Given the description of an element on the screen output the (x, y) to click on. 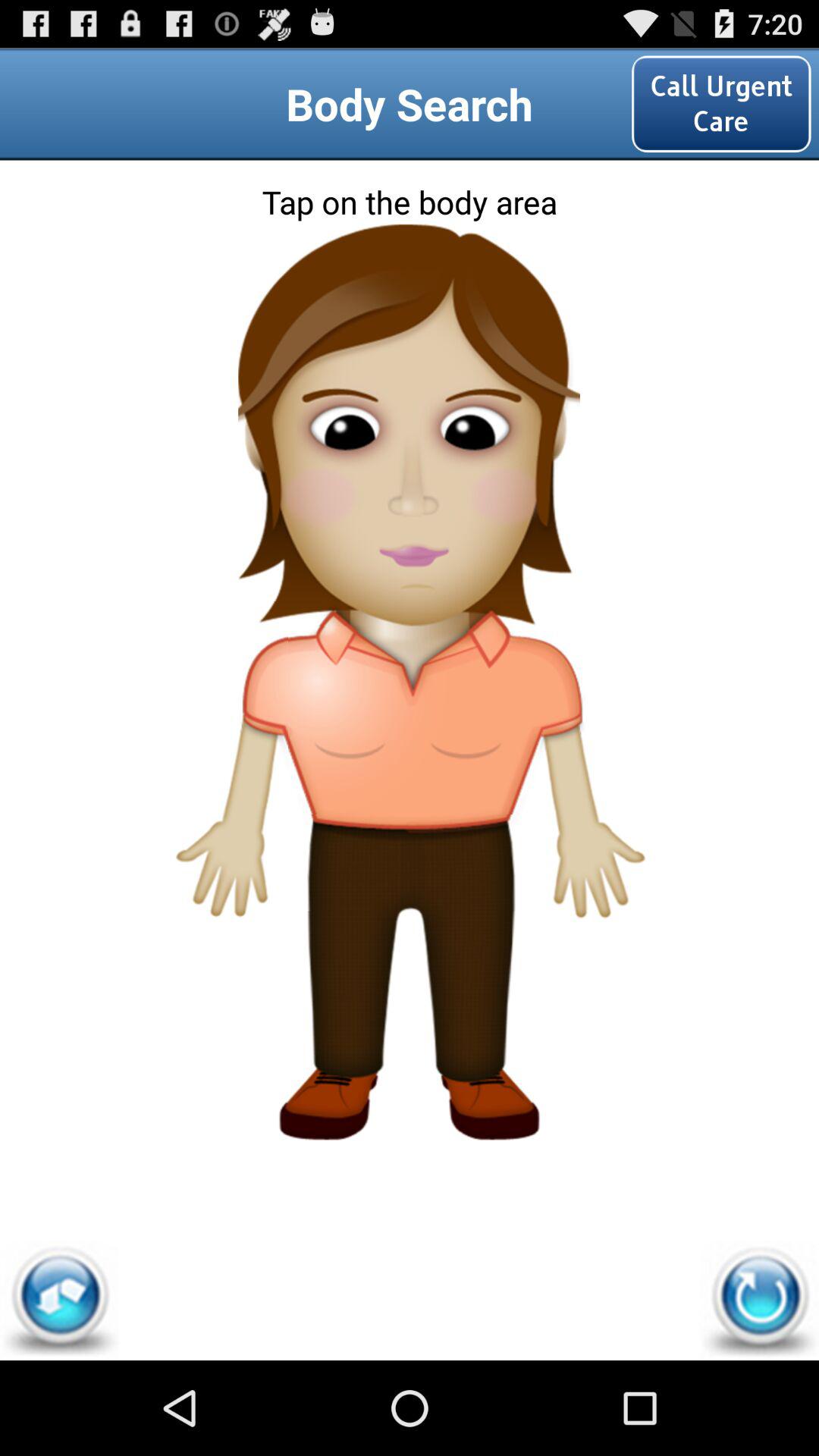
select the icon at the top right corner (721, 103)
